Given the description of an element on the screen output the (x, y) to click on. 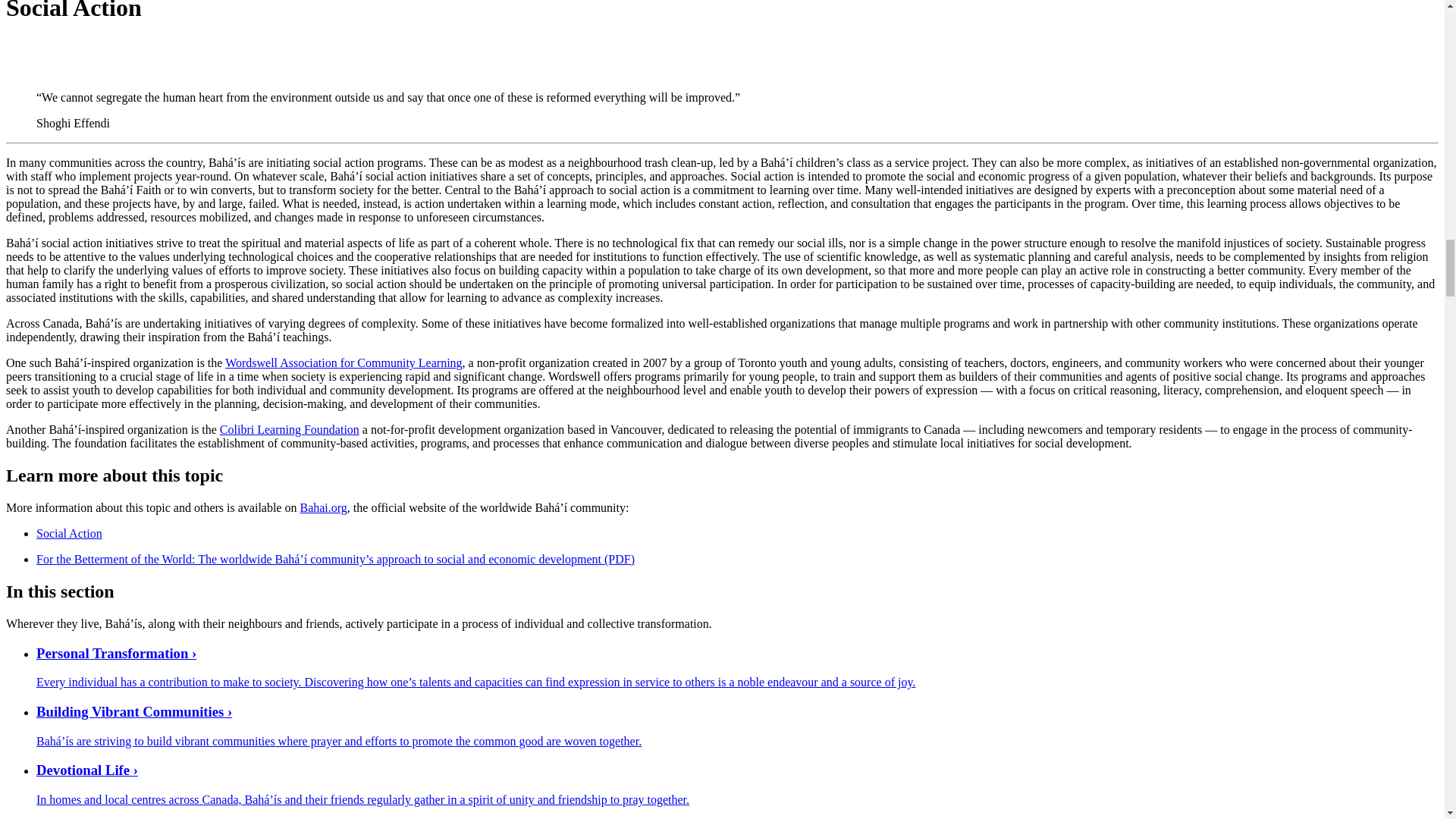
Bahai.org (322, 507)
Social Action (68, 533)
Colibri Learning Foundation (289, 429)
Wordswell Association for Community Learning (343, 362)
